Given the description of an element on the screen output the (x, y) to click on. 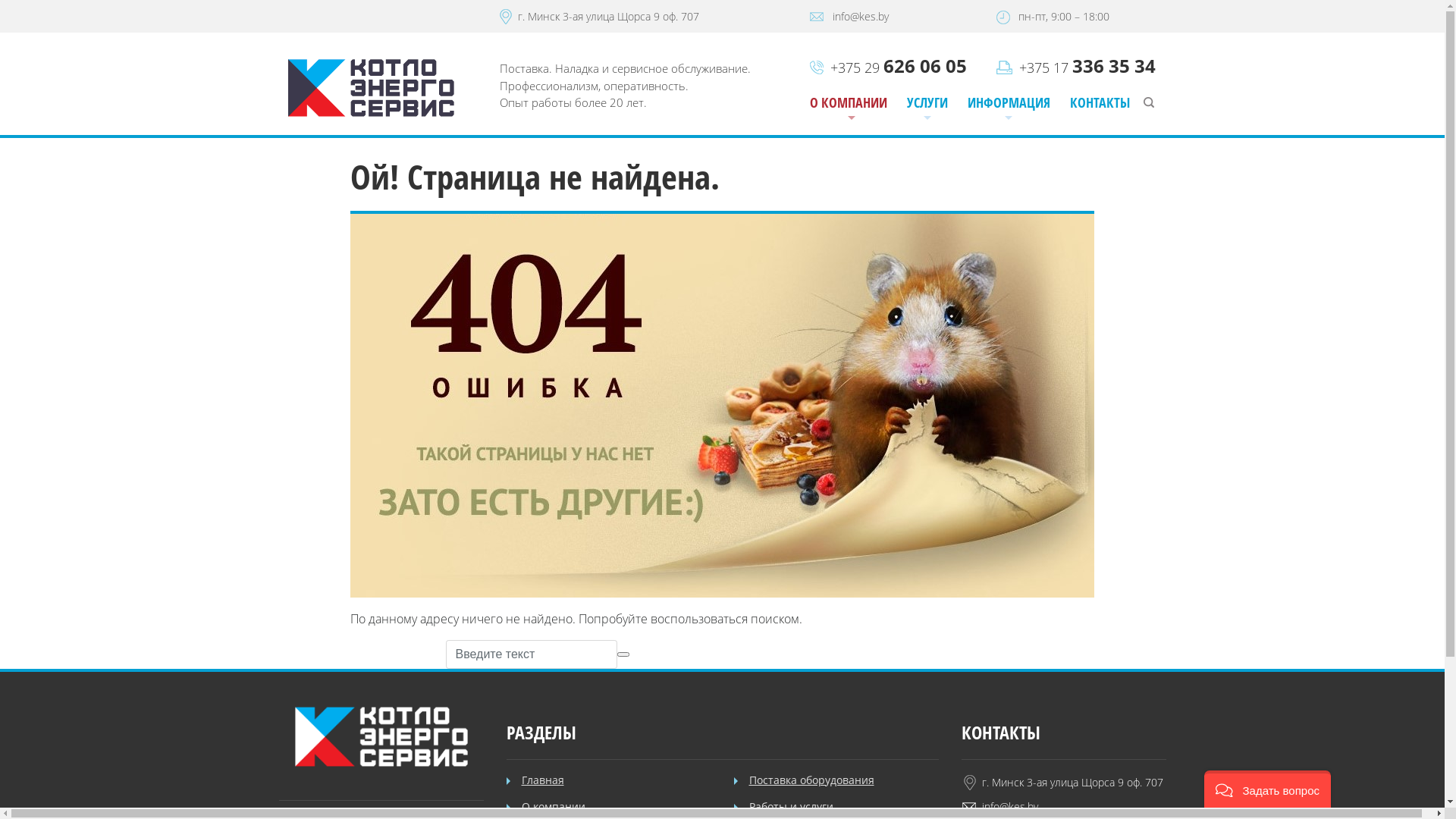
info@kes.by Element type: text (860, 16)
info@kes.by Element type: text (1009, 806)
+375 29 626 06 05 Element type: text (897, 67)
